Given the description of an element on the screen output the (x, y) to click on. 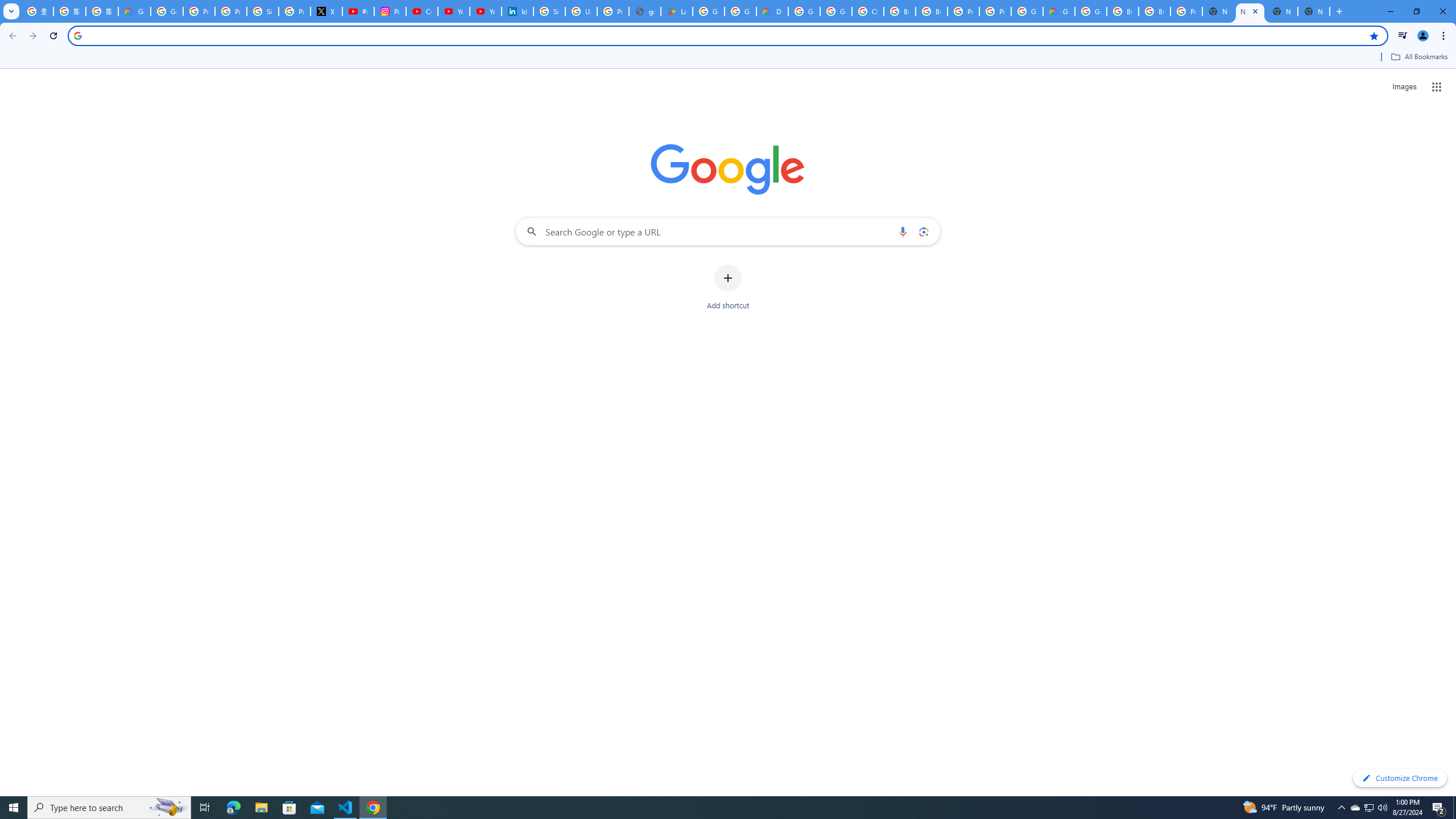
Google Cloud Platform (1091, 11)
Browse Chrome as a guest - Computer - Google Chrome Help (1123, 11)
